Given the description of an element on the screen output the (x, y) to click on. 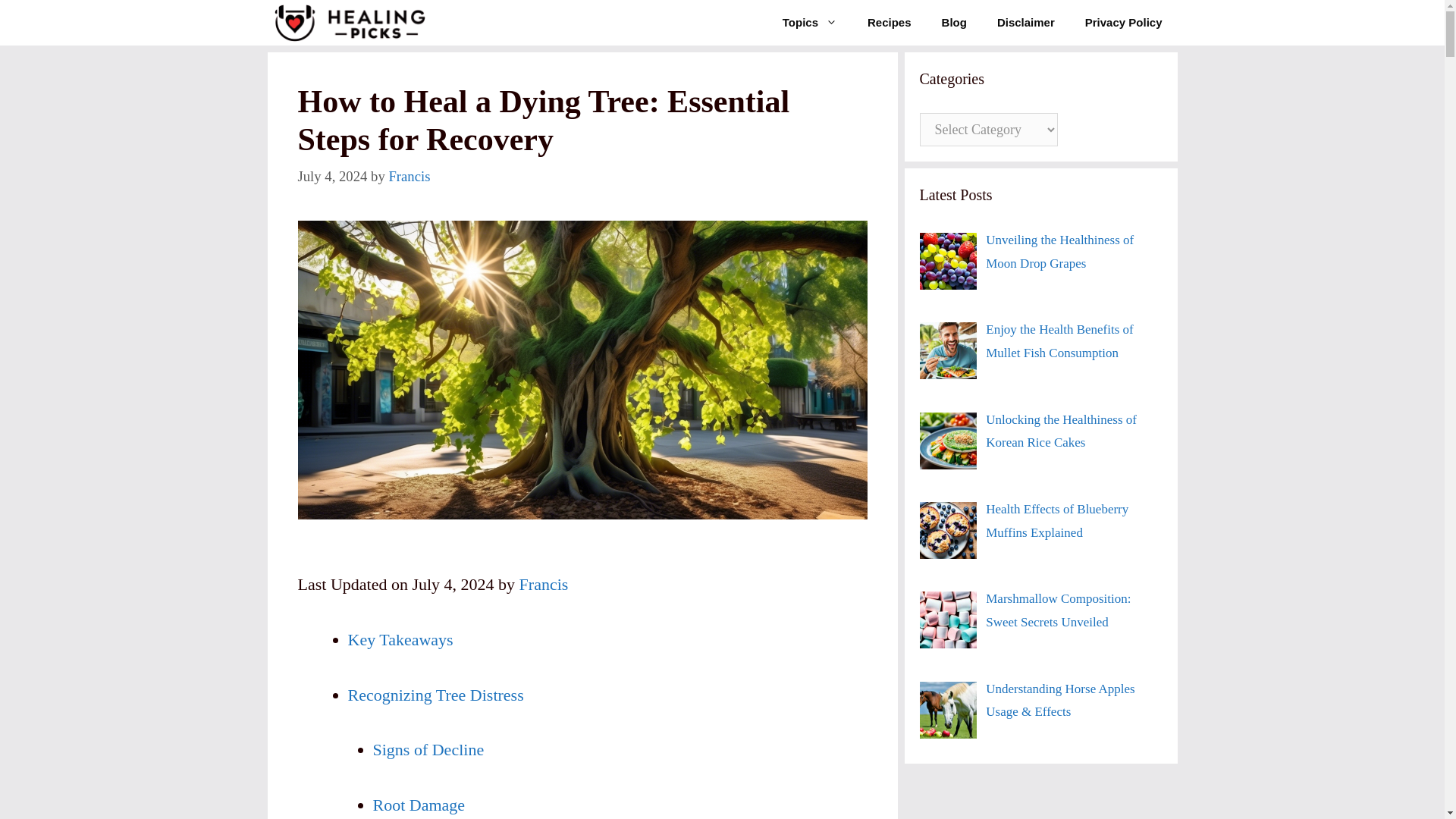
Topics (809, 22)
Signs of Decline (428, 749)
Privacy Policy (1123, 22)
Francis (544, 583)
Francis (408, 176)
Disclaimer (1025, 22)
Recipes (888, 22)
View all posts by Francis (408, 176)
Blog (953, 22)
Key Takeaways (399, 639)
Root Damage (418, 804)
Recognizing Tree Distress (434, 694)
